Given the description of an element on the screen output the (x, y) to click on. 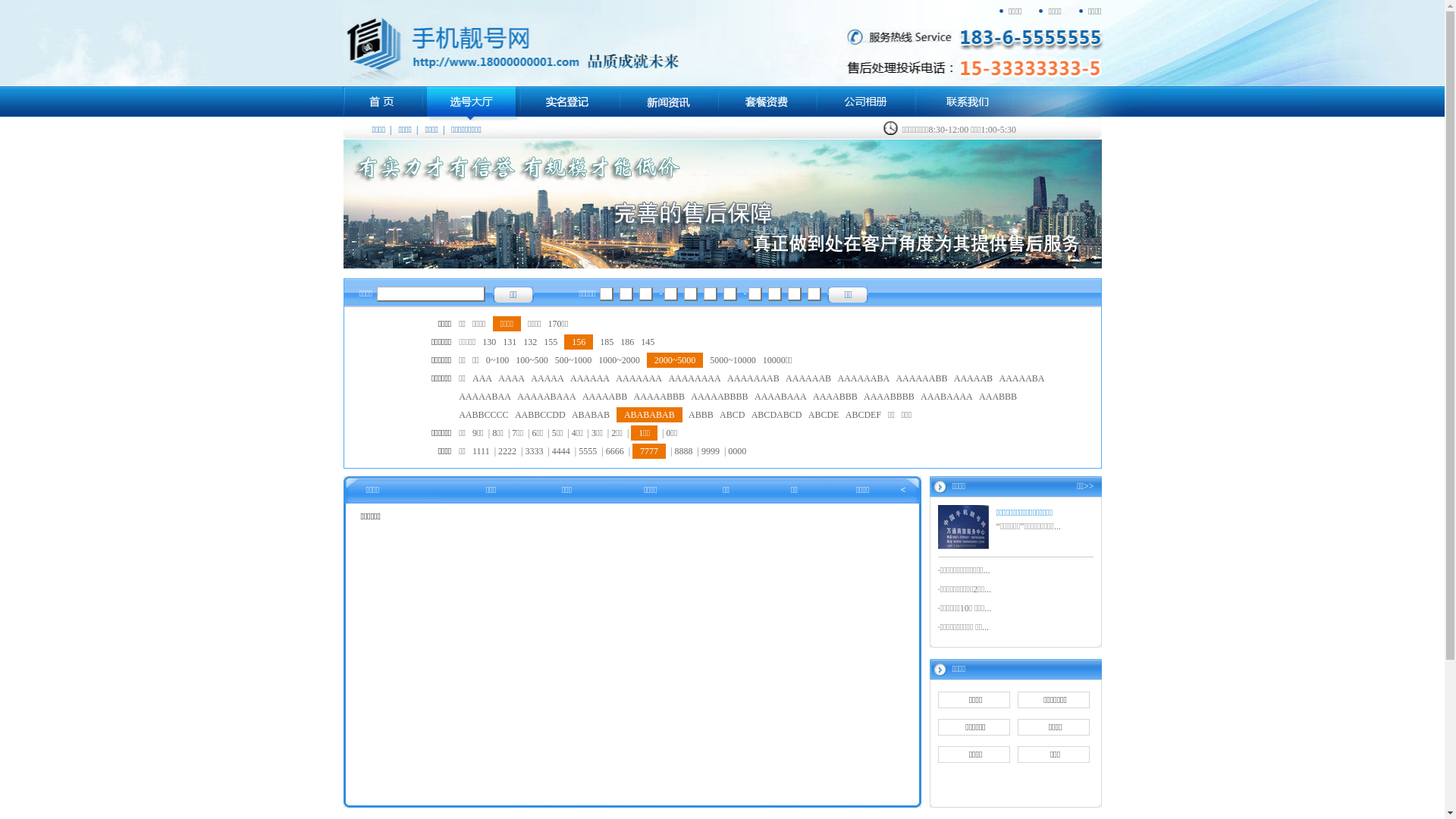
ABCD Element type: text (731, 414)
AAABAAAA Element type: text (946, 396)
AAAAA Element type: text (546, 378)
AABBCCDD Element type: text (539, 414)
AAABBB Element type: text (997, 396)
AAAABAAA Element type: text (780, 396)
AAAAABBB Element type: text (658, 396)
186 Element type: text (626, 341)
AAAAABB Element type: text (604, 396)
1111 Element type: text (480, 450)
0~100 Element type: text (497, 359)
AAAAAB Element type: text (972, 378)
1000~2000 Element type: text (619, 359)
3333 Element type: text (533, 450)
130 Element type: text (488, 341)
AAAABBB Element type: text (834, 396)
AAAAABA Element type: text (1021, 378)
ABCDEF Element type: text (863, 414)
145 Element type: text (647, 341)
AAAAAAA Element type: text (638, 378)
AAAAAABB Element type: text (921, 378)
100~500 Element type: text (531, 359)
2000~5000 Element type: text (674, 359)
8888 Element type: text (683, 450)
156 Element type: text (578, 341)
AAAAABAA Element type: text (484, 396)
ABCDABCD Element type: text (776, 414)
132 Element type: text (529, 341)
185 Element type: text (606, 341)
ABABAB Element type: text (590, 414)
AAAAAAAA Element type: text (694, 378)
500~1000 Element type: text (573, 359)
6666 Element type: text (614, 450)
9999 Element type: text (710, 450)
ABBB Element type: text (700, 414)
AAAAAABA Element type: text (863, 378)
5000~10000 Element type: text (732, 359)
AAAABBBB Element type: text (888, 396)
AAAAAAAB Element type: text (753, 378)
AABBCCCC Element type: text (483, 414)
2222 Element type: text (507, 450)
ABABABAB Element type: text (649, 414)
AAAAAA Element type: text (589, 378)
AAAAABBBB Element type: text (718, 396)
0000 Element type: text (737, 450)
7777 Element type: text (648, 450)
AAAAAAB Element type: text (808, 378)
AAAAABAAA Element type: text (546, 396)
131 Element type: text (509, 341)
ABCDE Element type: text (823, 414)
AAA Element type: text (482, 378)
4444 Element type: text (561, 450)
155 Element type: text (550, 341)
AAAA Element type: text (511, 378)
5555 Element type: text (587, 450)
